Given the description of an element on the screen output the (x, y) to click on. 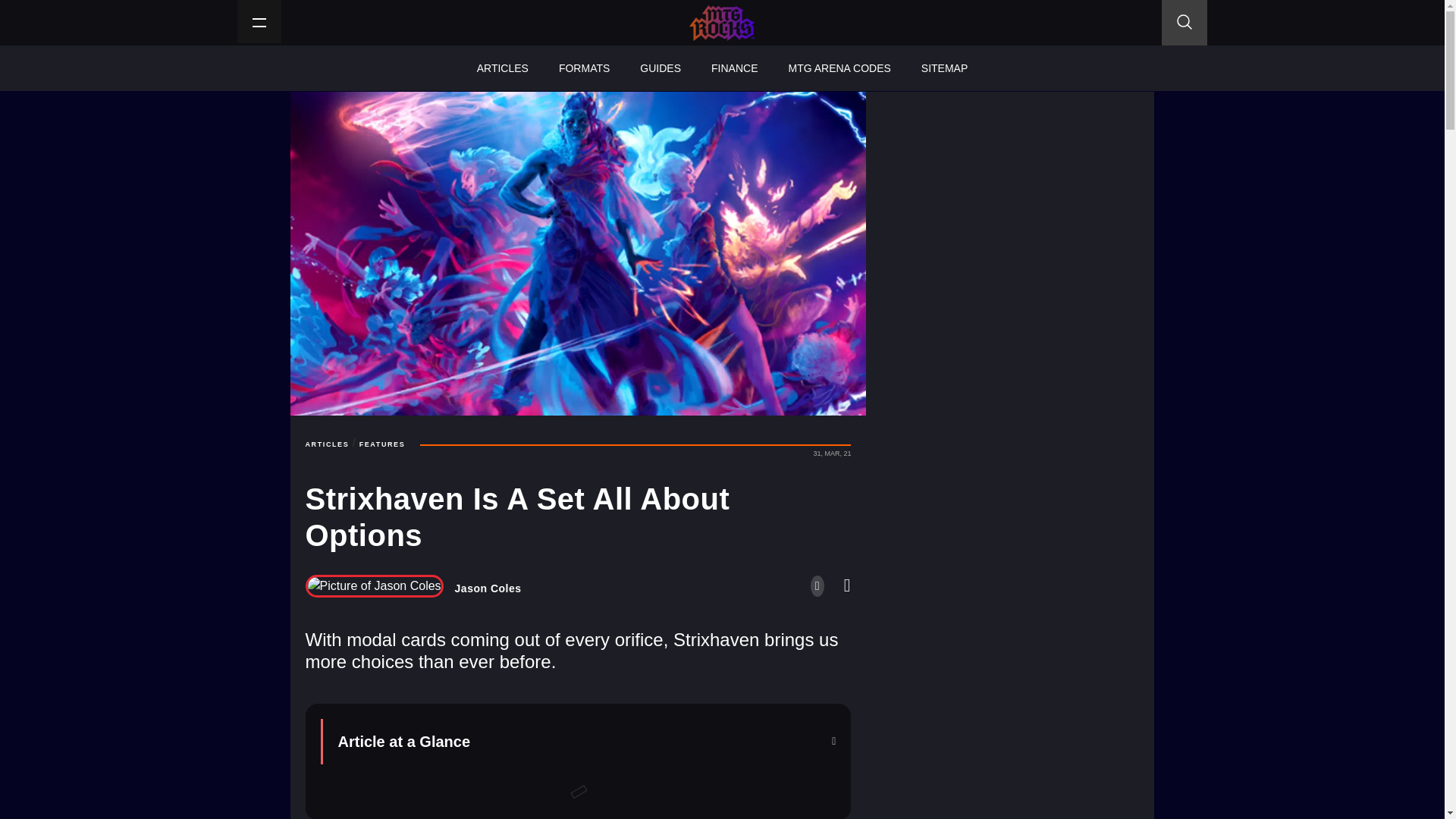
ARTICLES (326, 444)
FORMATS (583, 68)
SITEMAP (943, 68)
FINANCE (734, 68)
ARTICLES (502, 68)
MTG ARENA CODES (839, 68)
FEATURES (382, 444)
GUIDES (659, 68)
